Given the description of an element on the screen output the (x, y) to click on. 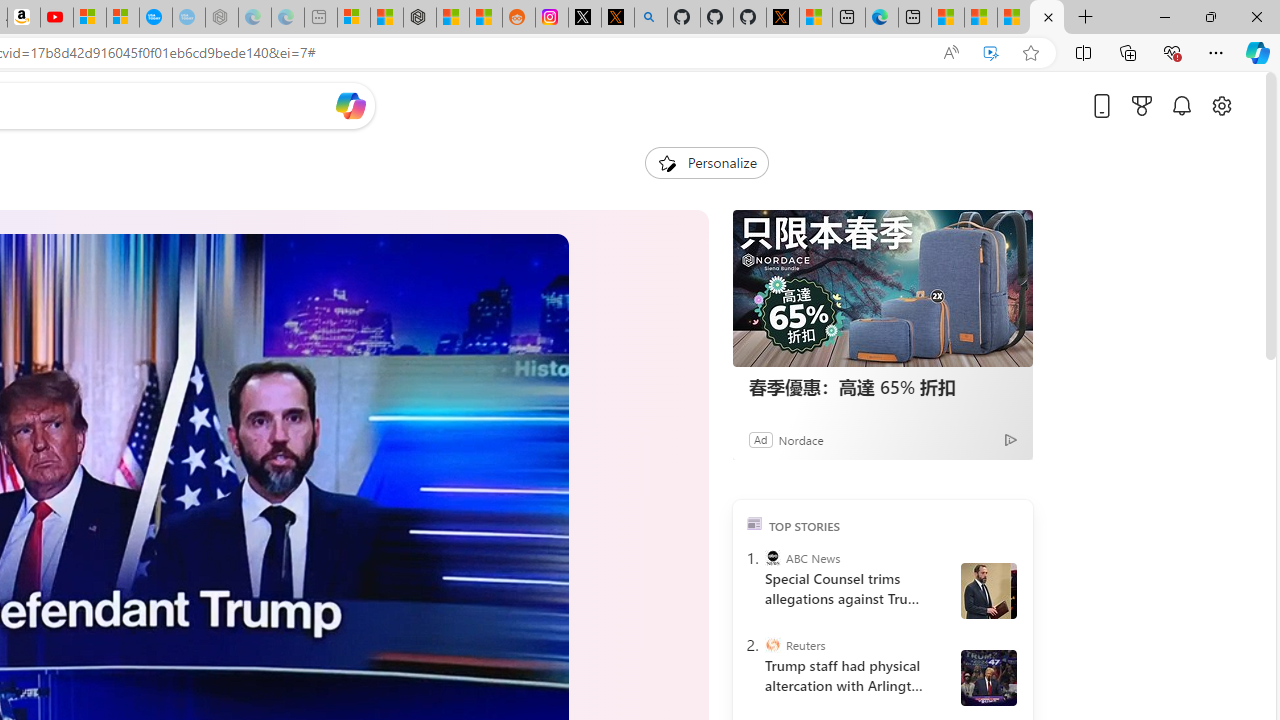
Ad (760, 439)
MSNBC - MSN (981, 17)
Welcome to Microsoft Edge (882, 17)
X Privacy Policy (782, 17)
